Given the description of an element on the screen output the (x, y) to click on. 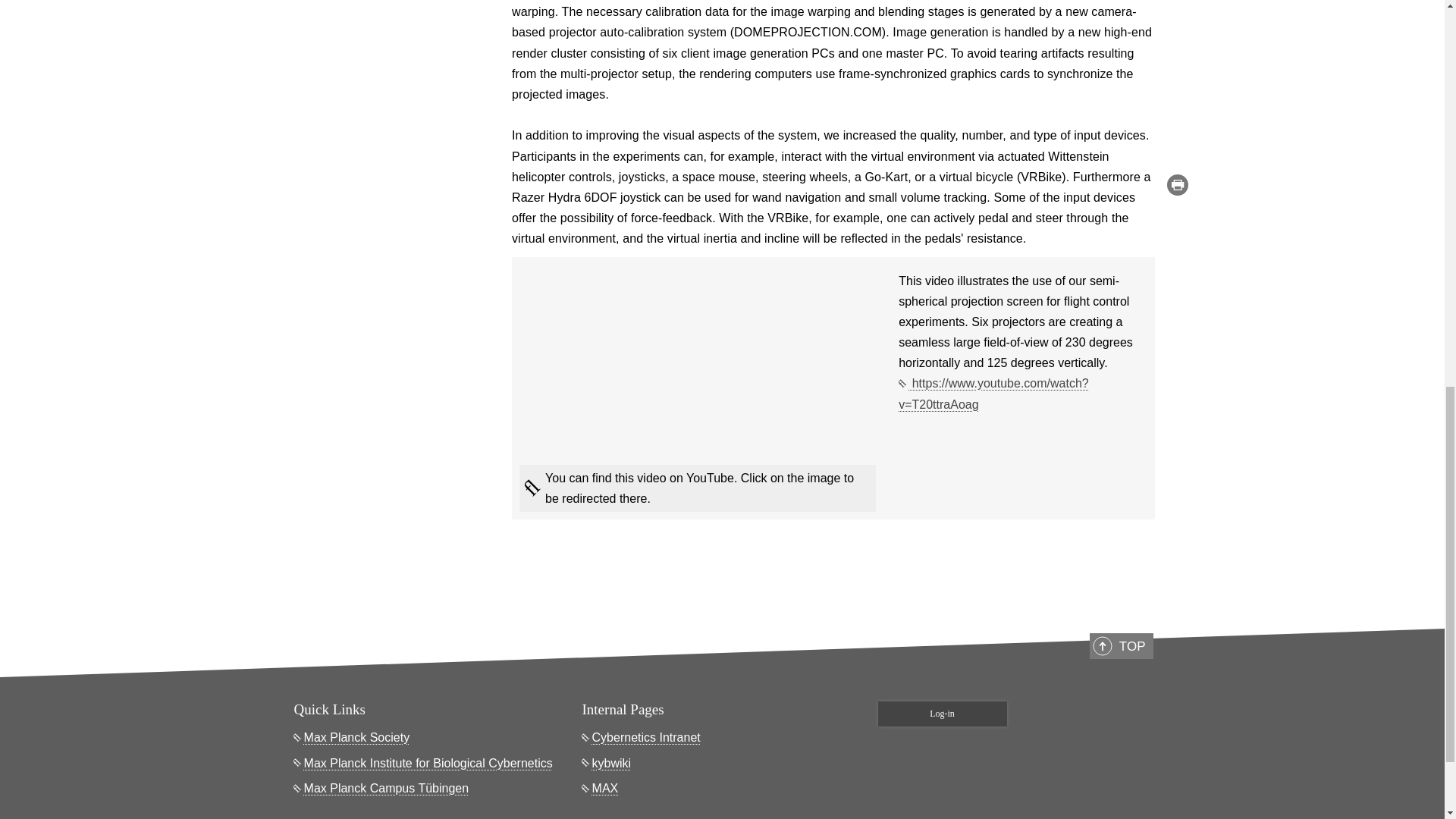
opens zoom view (389, 69)
Cybernetics Intranet (641, 737)
Log-in (942, 713)
opens zoom view (389, 255)
MAX (600, 788)
TOP (1121, 646)
kybwiki (606, 763)
Max Planck Institute for Biological Cybernetics (423, 763)
Max Planck Society (352, 737)
